Given the description of an element on the screen output the (x, y) to click on. 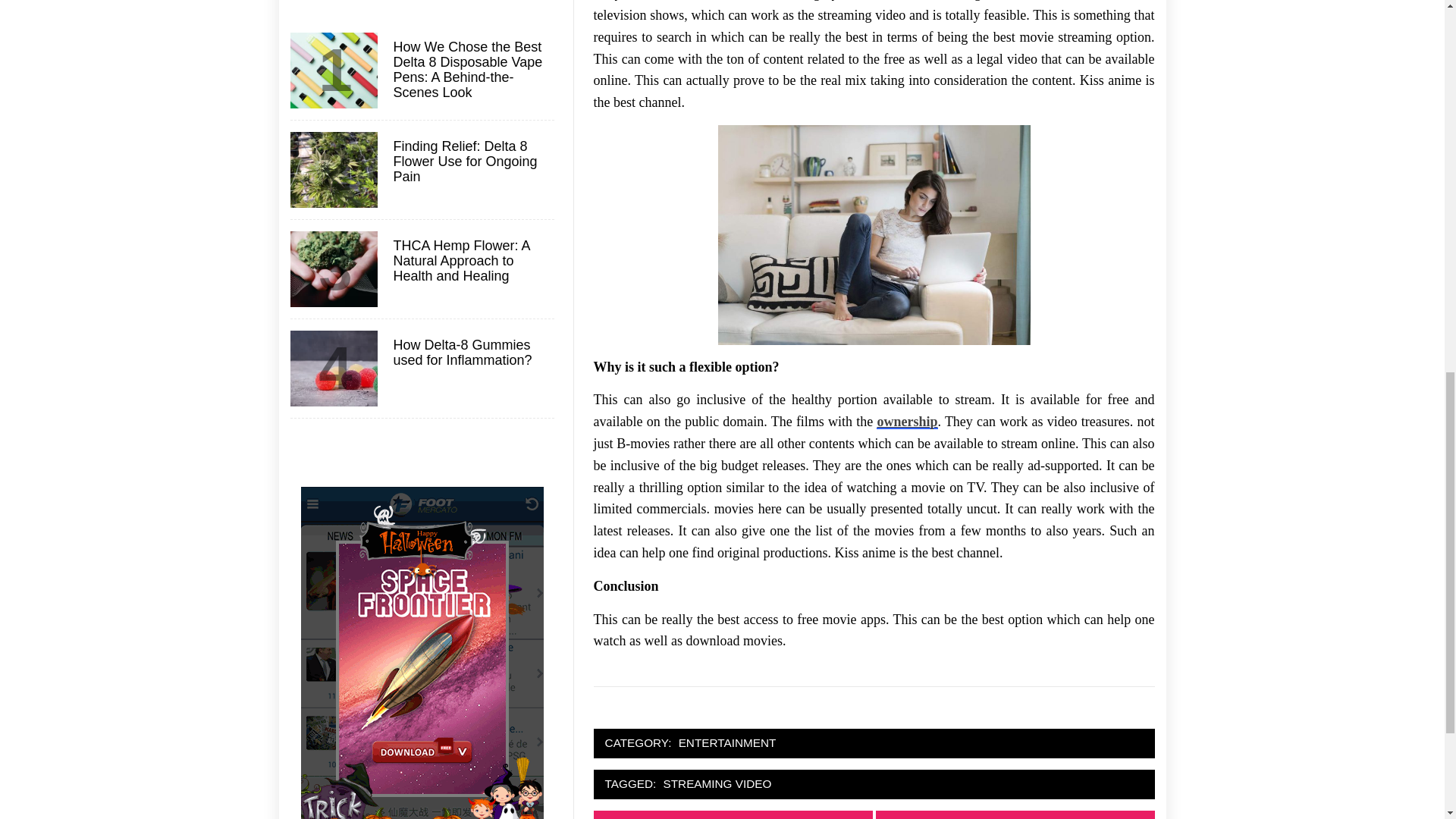
STREAMING VIDEO (717, 784)
How Delta-8 Gummies used for Inflammation? (471, 353)
THCA Hemp Flower: A Natural Approach to Health and Healing (471, 261)
Finding Relief: Delta 8 Flower Use for Ongoing Pain (471, 161)
ENTERTAINMENT (727, 743)
ownership (906, 421)
